Given the description of an element on the screen output the (x, y) to click on. 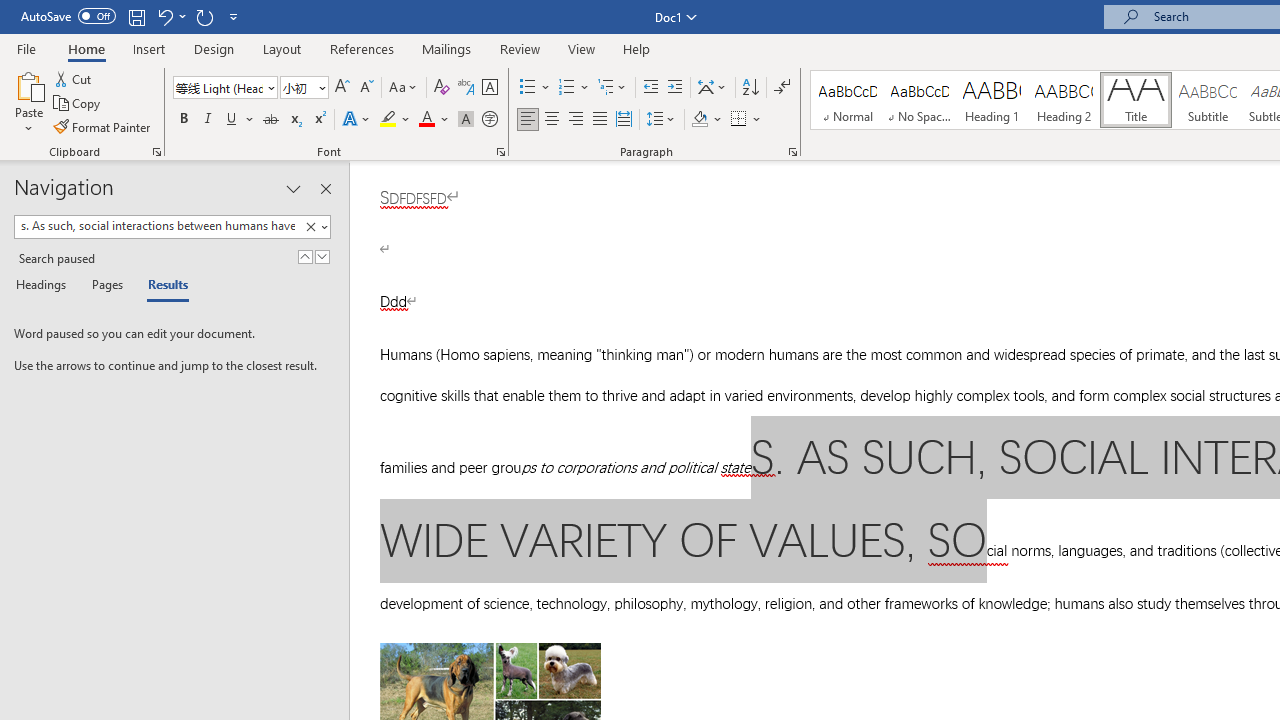
Heading 2 (1063, 100)
Repeat Style (204, 15)
